Given the description of an element on the screen output the (x, y) to click on. 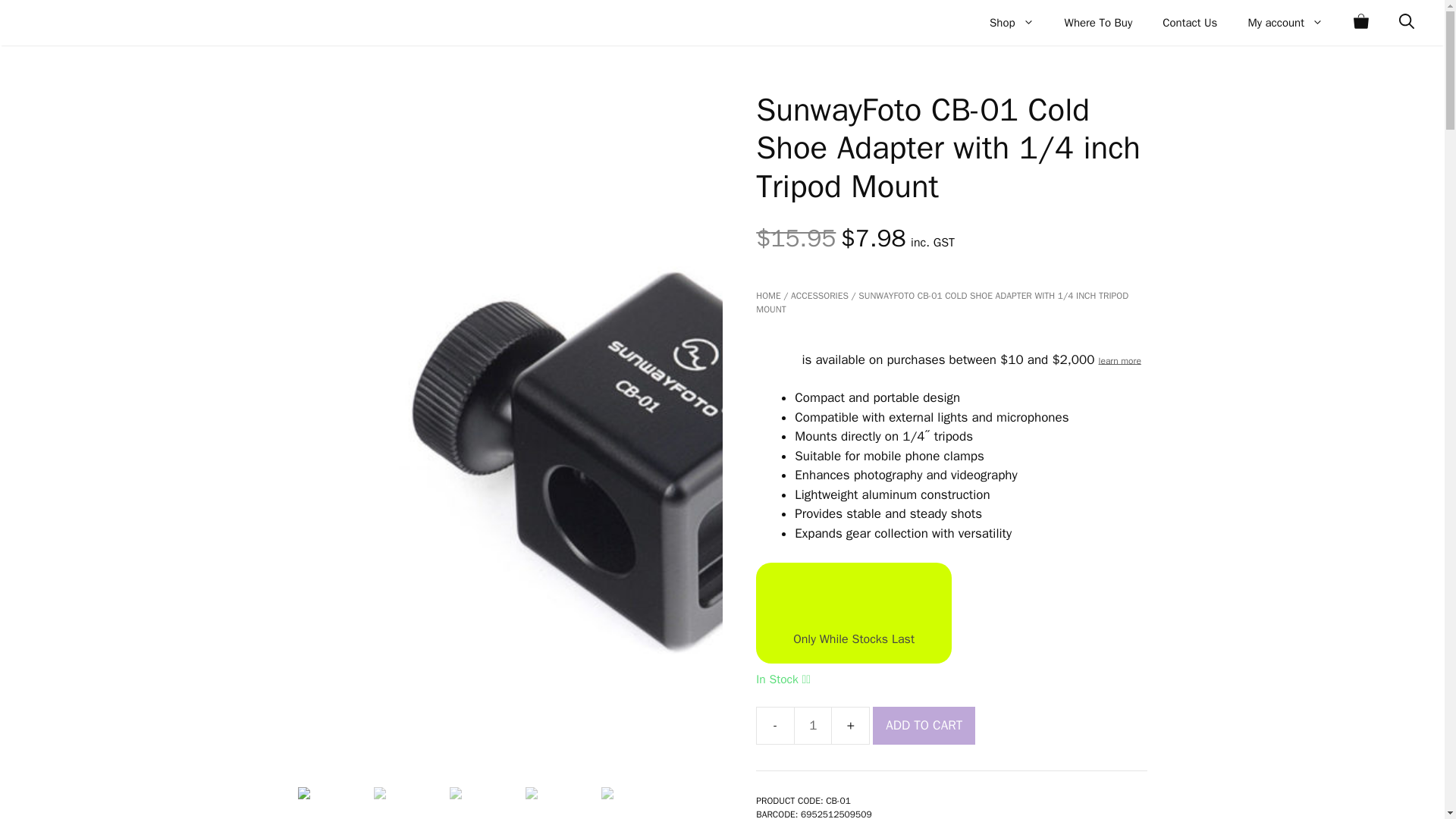
1 (812, 725)
Shop (1011, 22)
View your shopping cart (1361, 22)
